Given the description of an element on the screen output the (x, y) to click on. 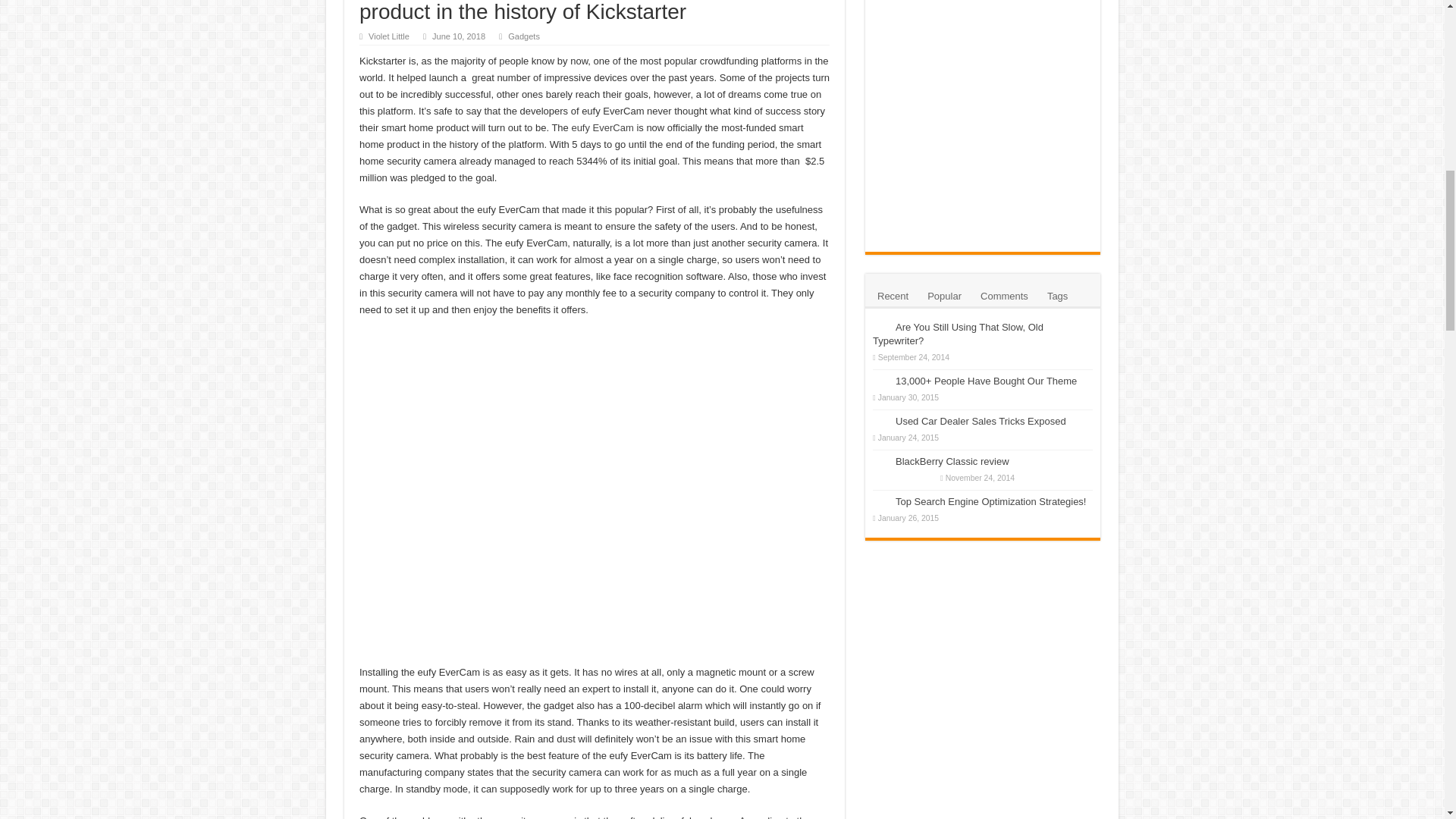
eufy EverCam (601, 127)
Not Bad (915, 478)
Gadgets (524, 35)
Violet Little (388, 35)
